Given the description of an element on the screen output the (x, y) to click on. 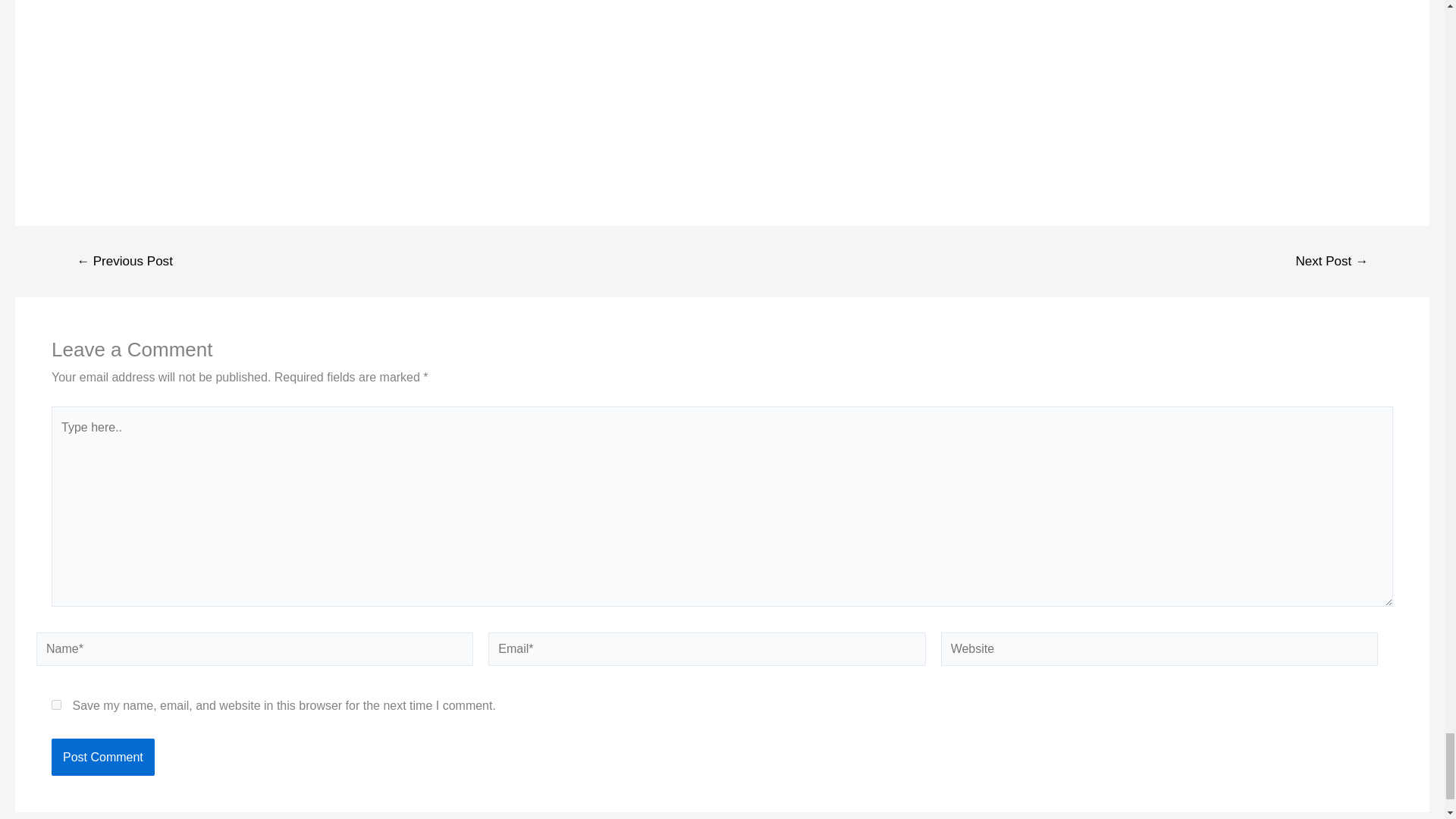
Post Comment (102, 757)
yes (55, 705)
